Given the description of an element on the screen output the (x, y) to click on. 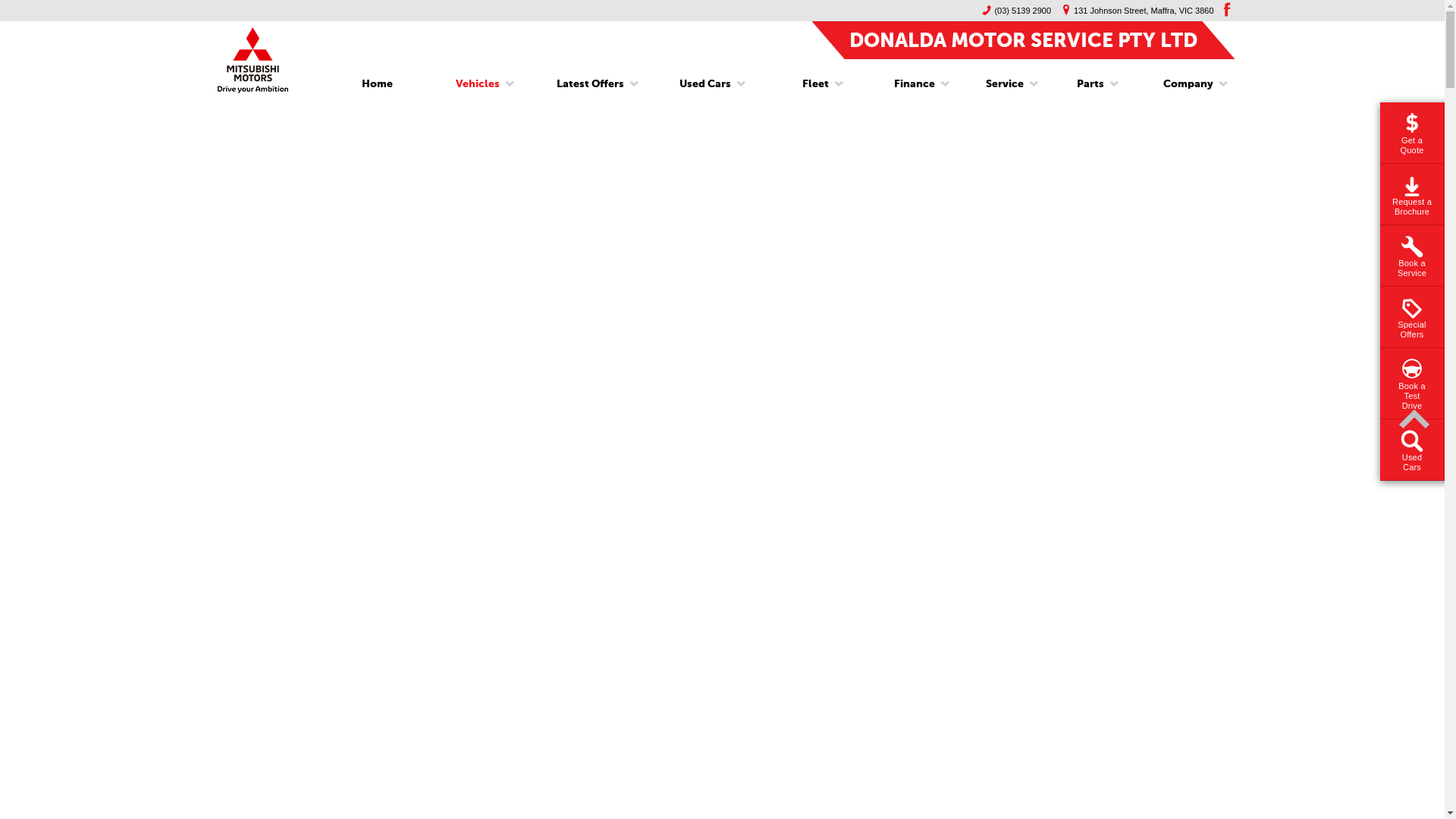
Parts Element type: text (1090, 83)
Used Cars Element type: text (705, 83)
Vehicles Element type: text (477, 83)
facebook Element type: text (1224, 9)
Company Element type: text (1182, 83)
DONALDA MOTOR SERVICE PTY LTD Element type: text (1023, 40)
Service Element type: text (1004, 83)
131 Johnson Street, Maffra, VIC 3860 Element type: text (1133, 10)
Home Element type: text (377, 83)
Finance Element type: text (914, 83)
Latest Offers Element type: text (590, 83)
Fleet Element type: text (815, 83)
